Given the description of an element on the screen output the (x, y) to click on. 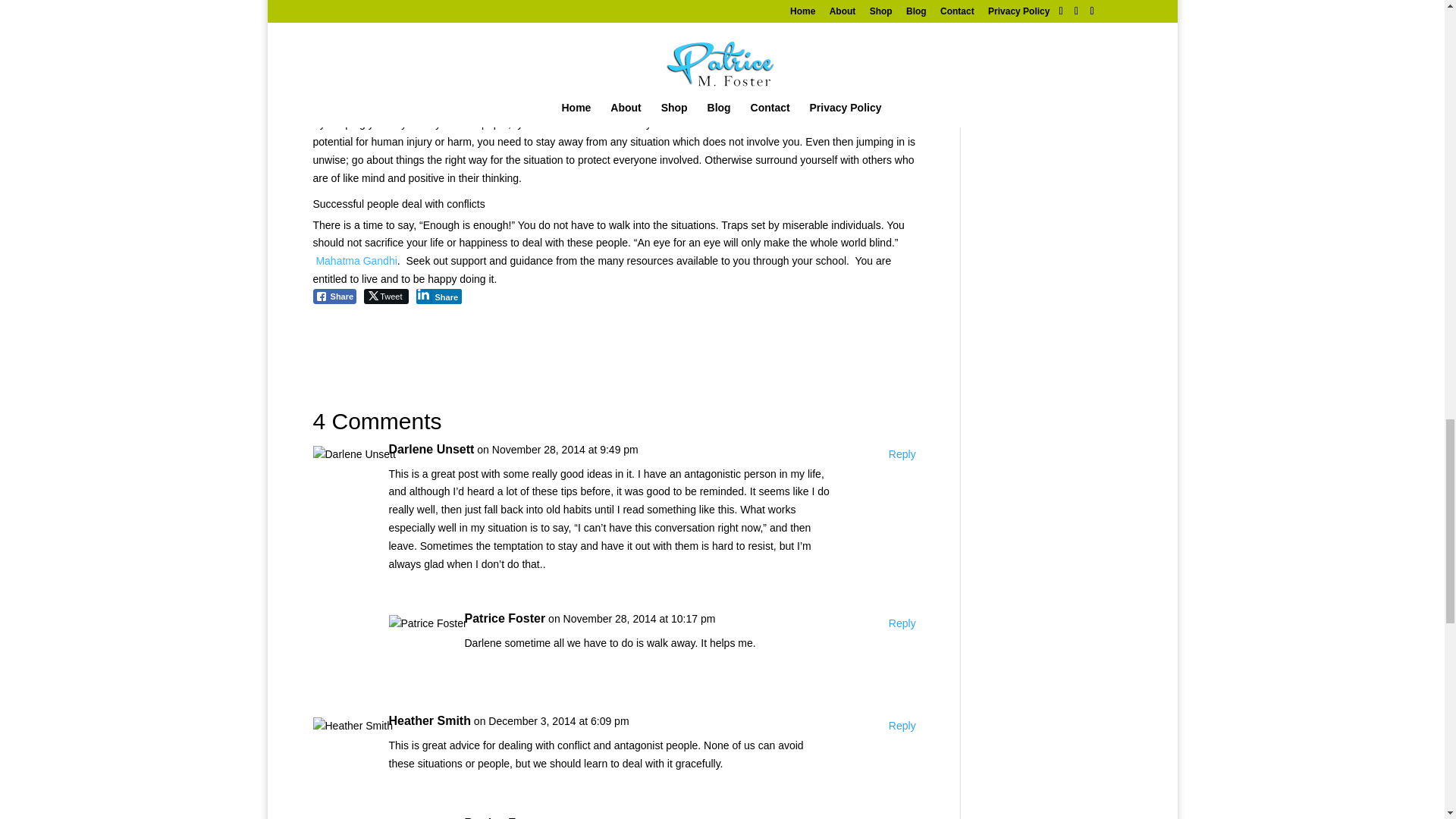
Reply (901, 454)
Patrice Foster (504, 816)
Share (334, 296)
Reply (901, 726)
Tweet (385, 296)
Share (437, 296)
Reply (901, 624)
Mahatma Gandhi (355, 260)
Patrice Foster (504, 618)
